Given the description of an element on the screen output the (x, y) to click on. 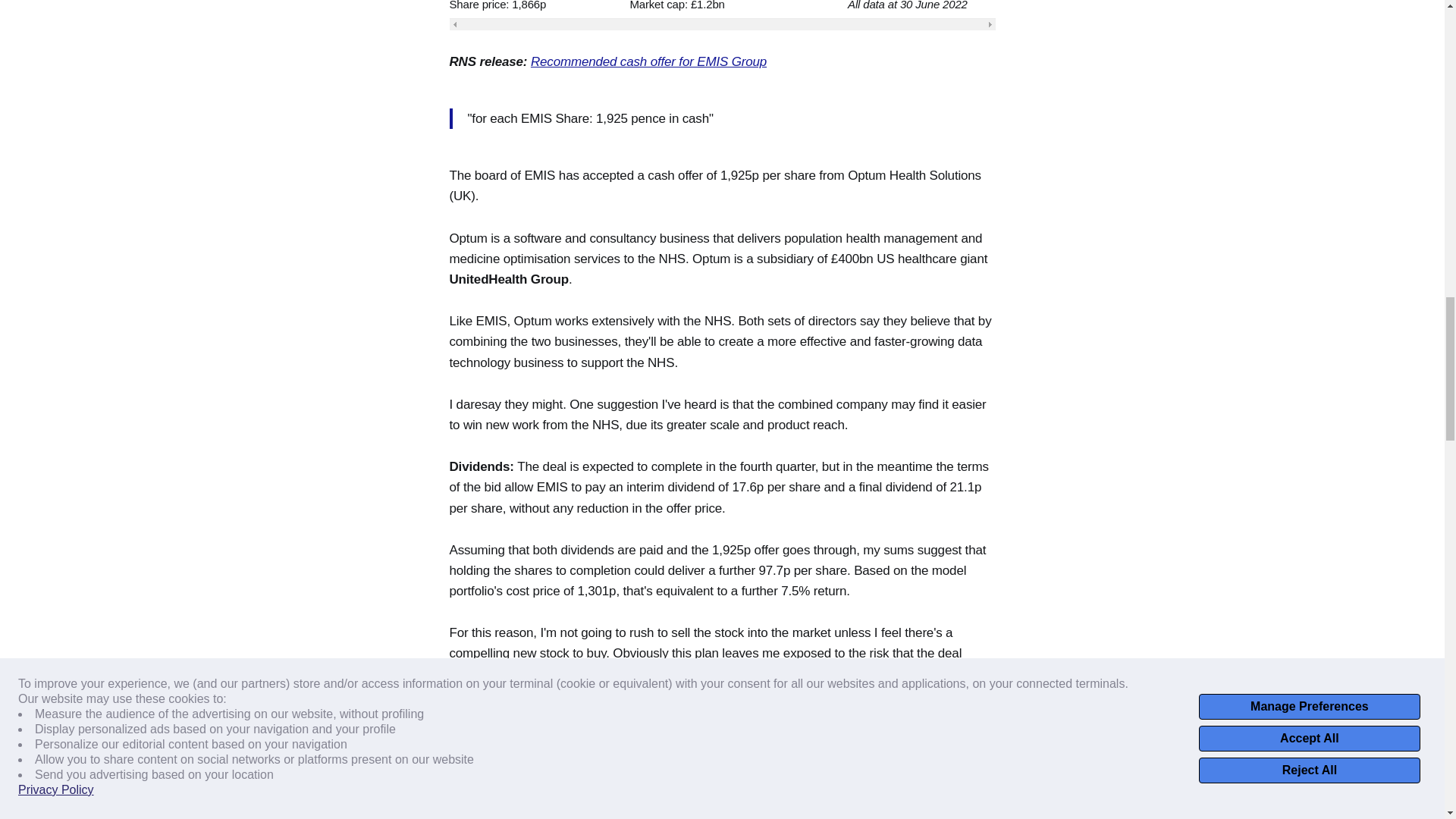
Recommended cash offer for EMIS Group (649, 61)
